Given the description of an element on the screen output the (x, y) to click on. 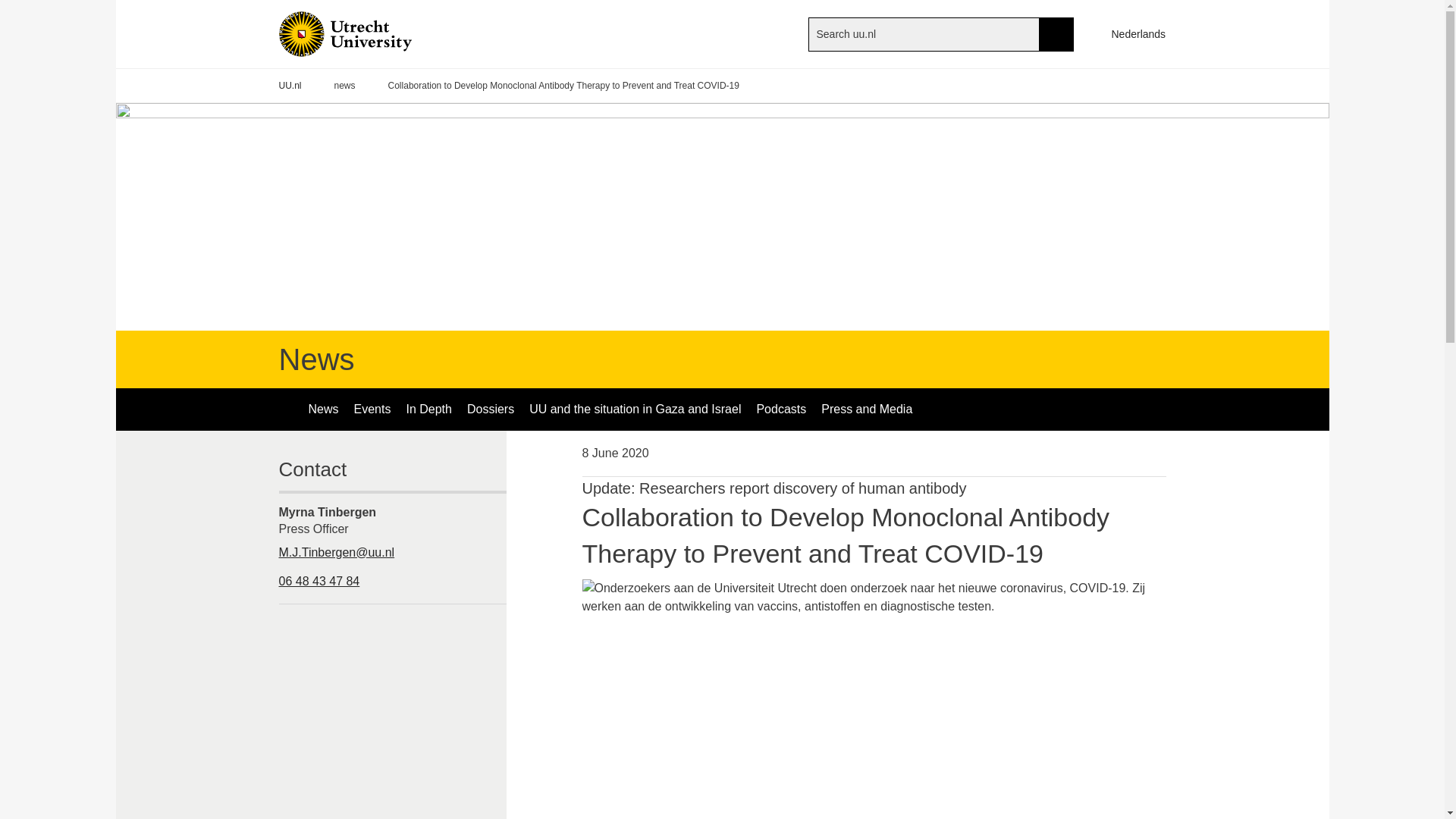
Home (370, 33)
Press and Media (866, 409)
News (322, 409)
Skip to main content (7, 7)
UU and the situation in Gaza and Israel (634, 409)
Events (372, 409)
In Depth (427, 409)
SEARCH (1056, 33)
Dossiers (490, 409)
